Given the description of an element on the screen output the (x, y) to click on. 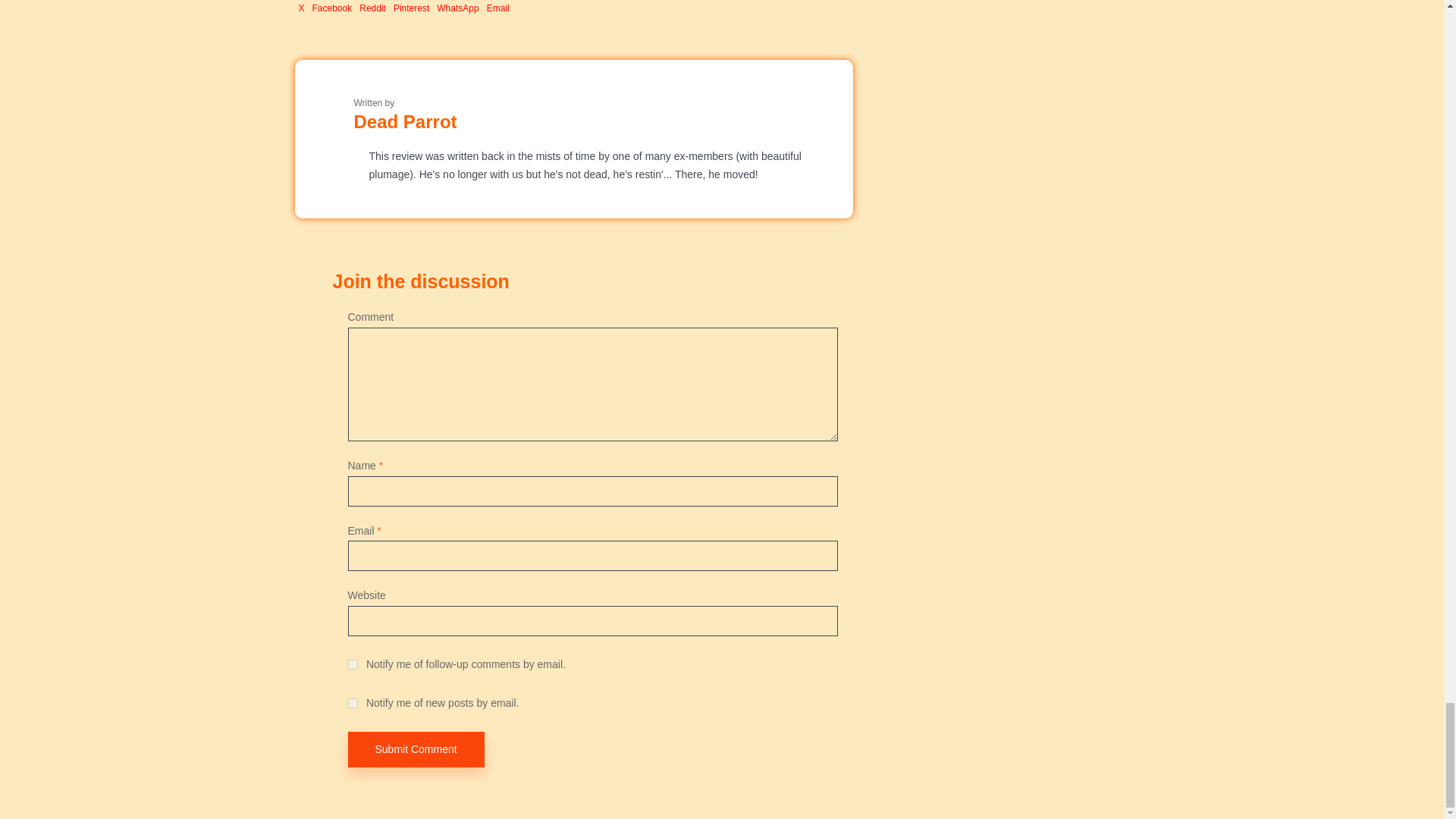
subscribe (351, 664)
Submit Comment (415, 749)
subscribe (351, 703)
